Given the description of an element on the screen output the (x, y) to click on. 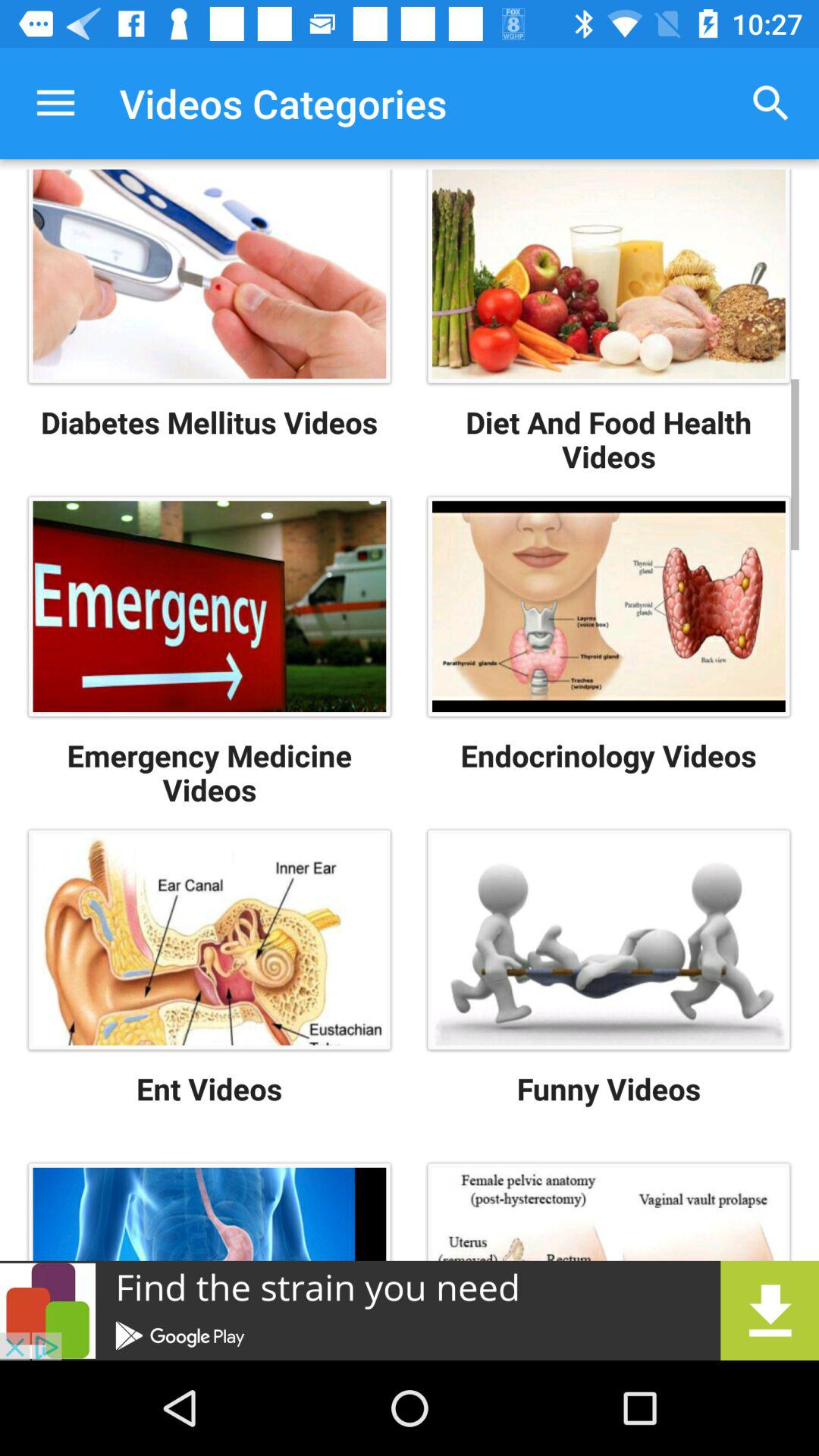
download the app (409, 1310)
